Given the description of an element on the screen output the (x, y) to click on. 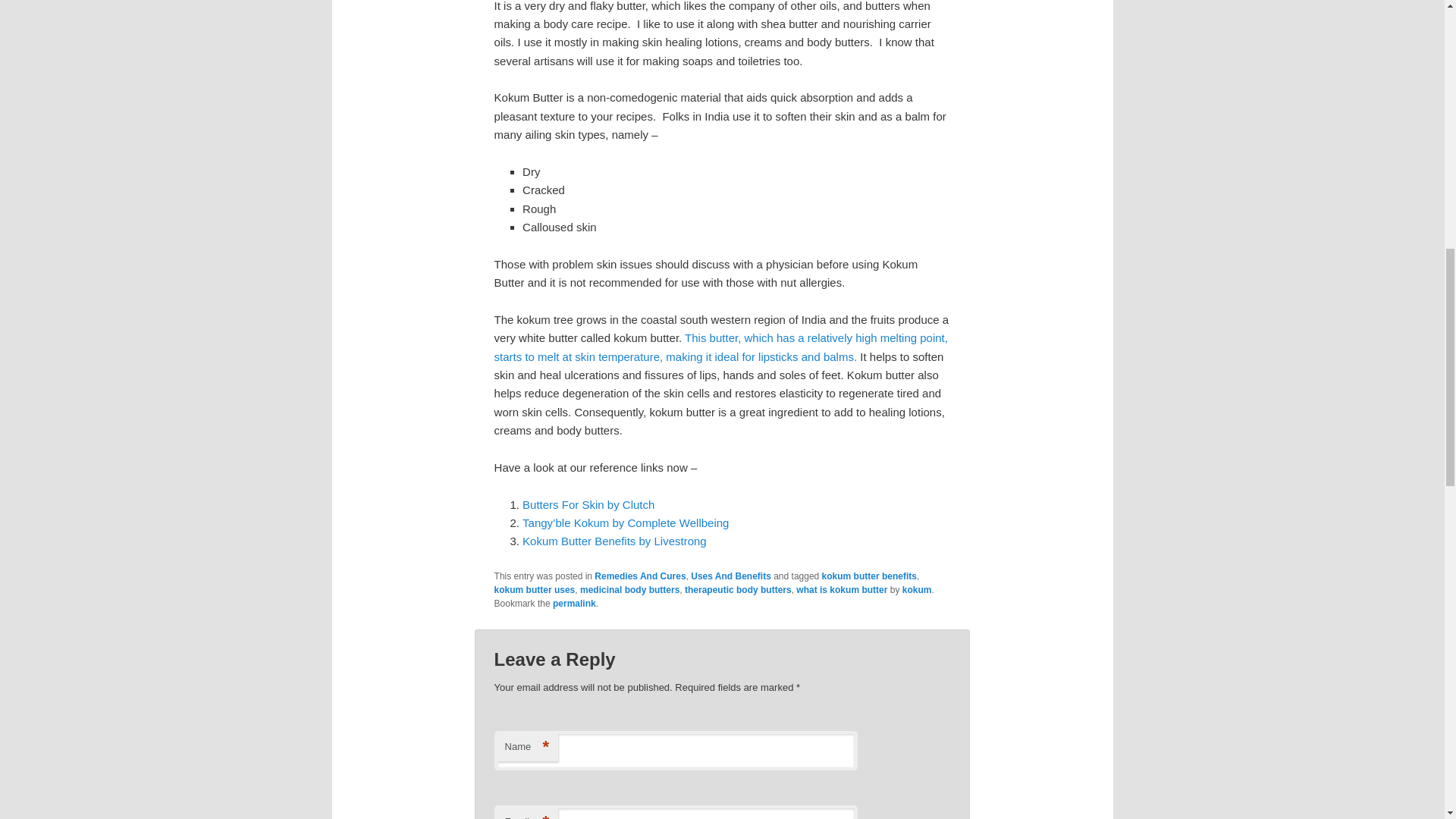
Uses And Benefits (730, 575)
Butters For Skin by Clutch (587, 504)
kokum butter uses (535, 589)
medicinal body butters (629, 589)
permalink (574, 603)
View all posts in Uses And Benefits (730, 575)
Remedies And Cures (639, 575)
therapeutic body butters (738, 589)
View all posts in Remedies And Cures (639, 575)
kokum butter benefits (869, 575)
what is kokum butter (841, 589)
kokum (916, 589)
Kokum Butter Benefits by Livestrong (614, 540)
